Given the description of an element on the screen output the (x, y) to click on. 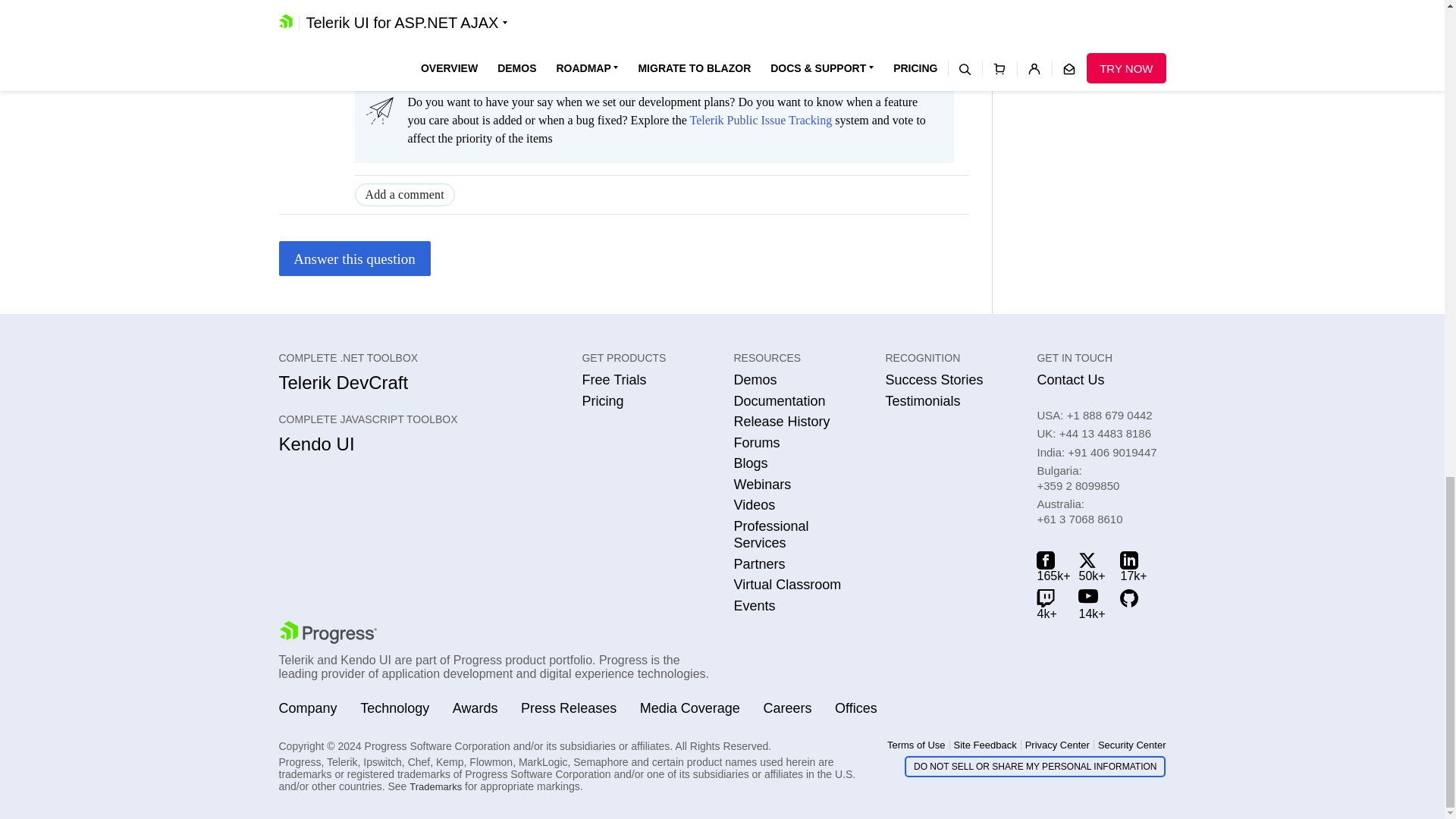
LinkedIn (1133, 567)
Twitch (1049, 604)
X (1091, 567)
GitHub (1133, 604)
Facebook (1049, 567)
YouTube (1091, 604)
